Given the description of an element on the screen output the (x, y) to click on. 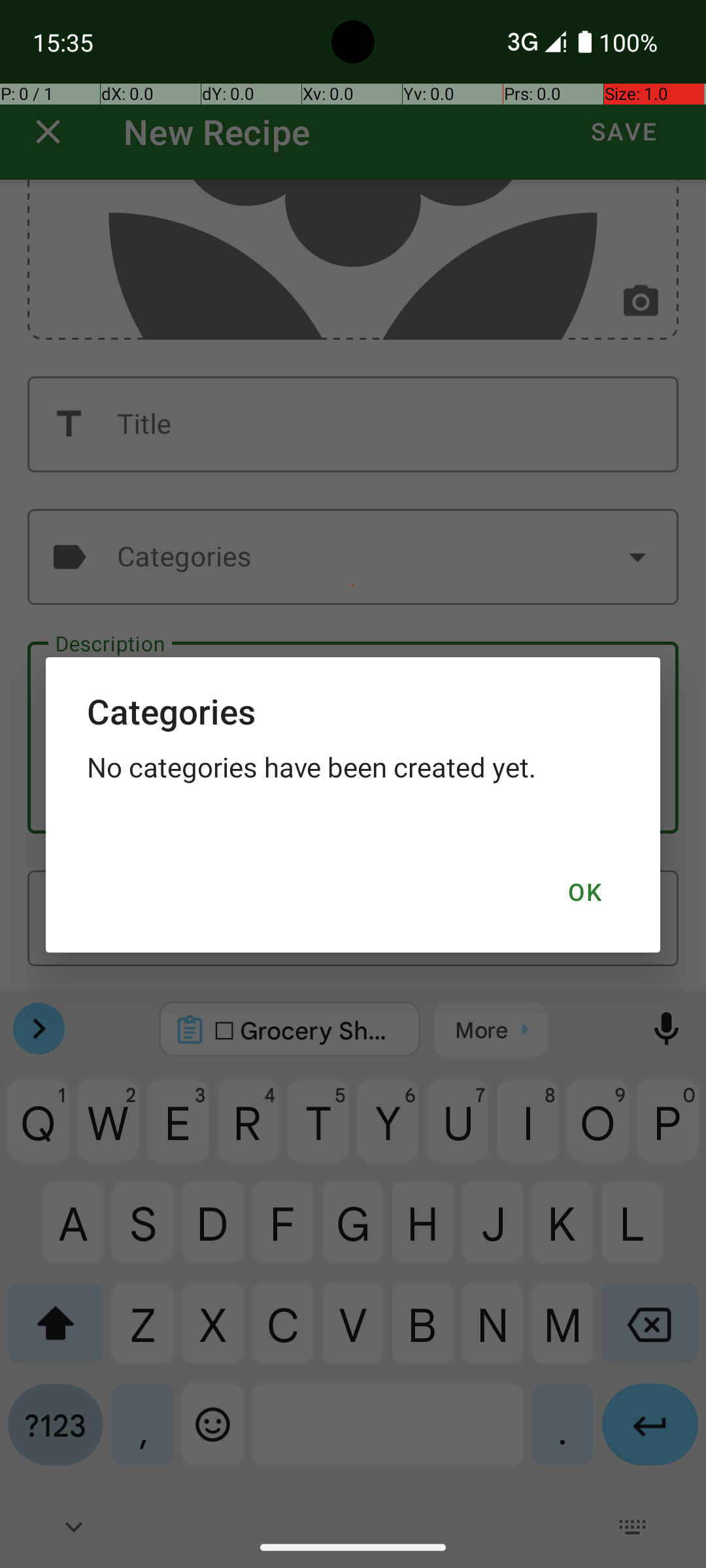
No categories have been created yet. Element type: android.widget.TextView (352, 766)
